Given the description of an element on the screen output the (x, y) to click on. 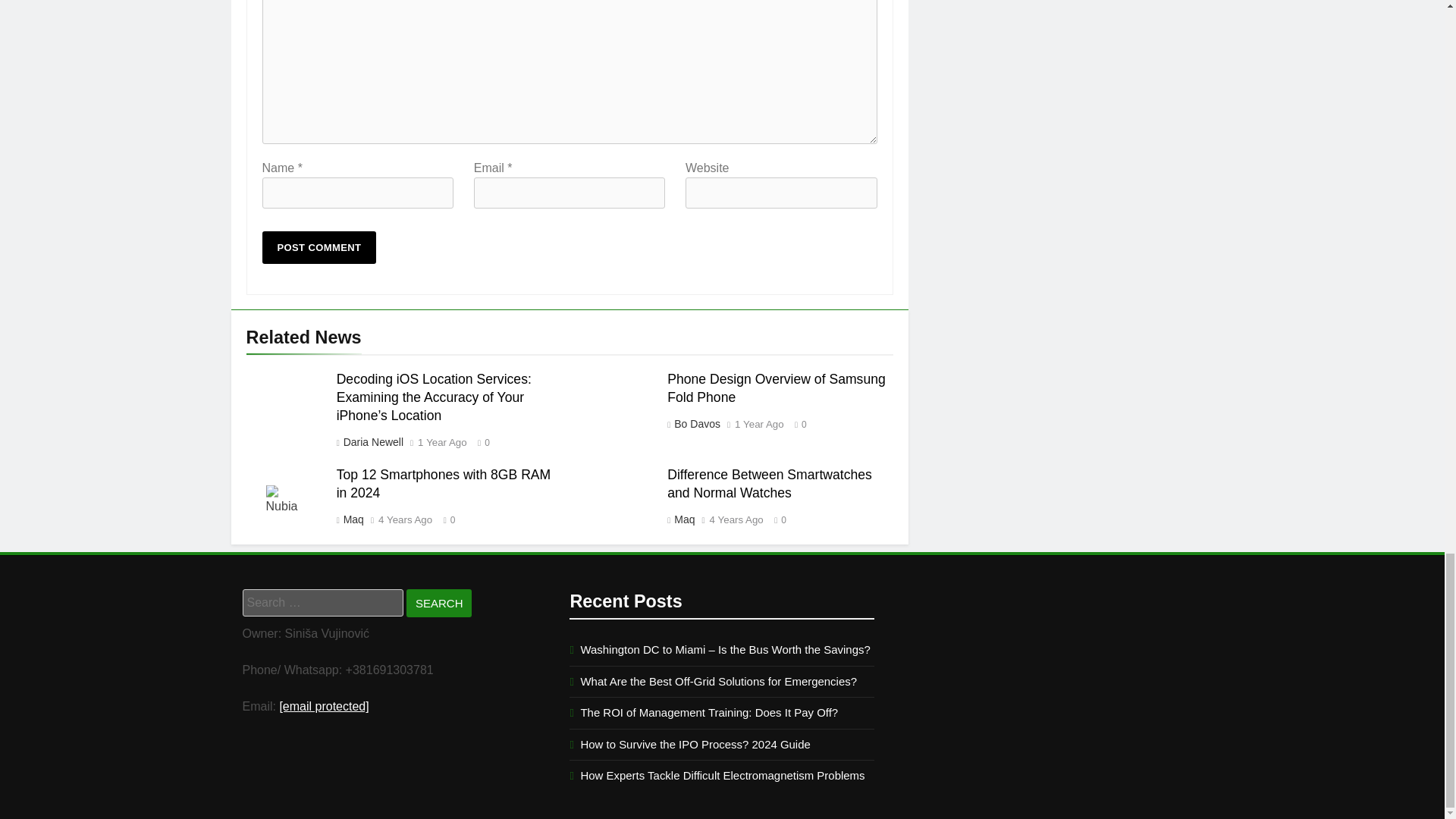
Search (438, 602)
Post Comment (319, 246)
Search (438, 602)
